Given the description of an element on the screen output the (x, y) to click on. 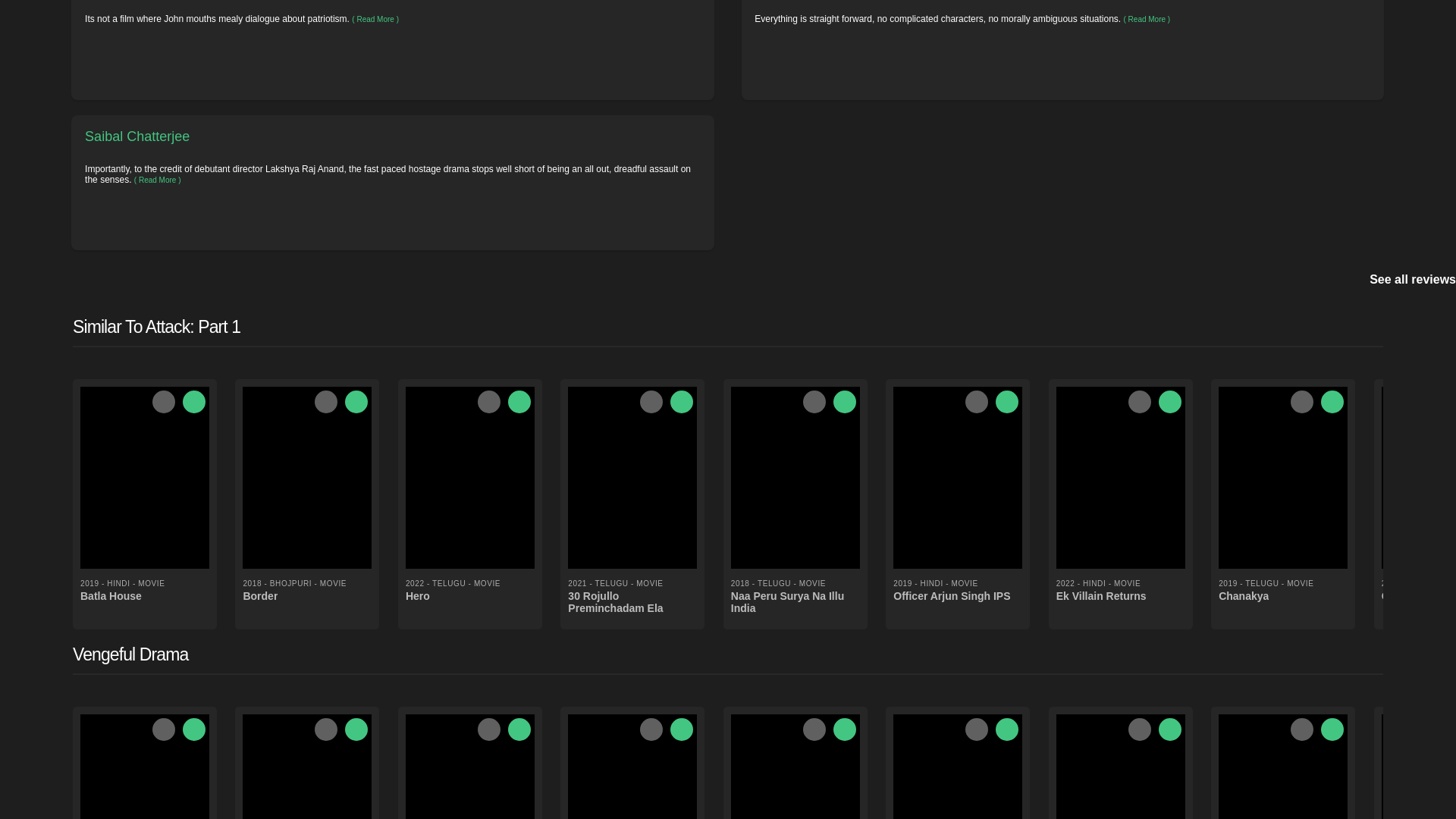
Hide (488, 401)
Hide (814, 401)
Hide (1139, 401)
Hide (325, 401)
Hide (976, 401)
Hide (1301, 401)
Hide (163, 401)
Hide (651, 401)
